Given the description of an element on the screen output the (x, y) to click on. 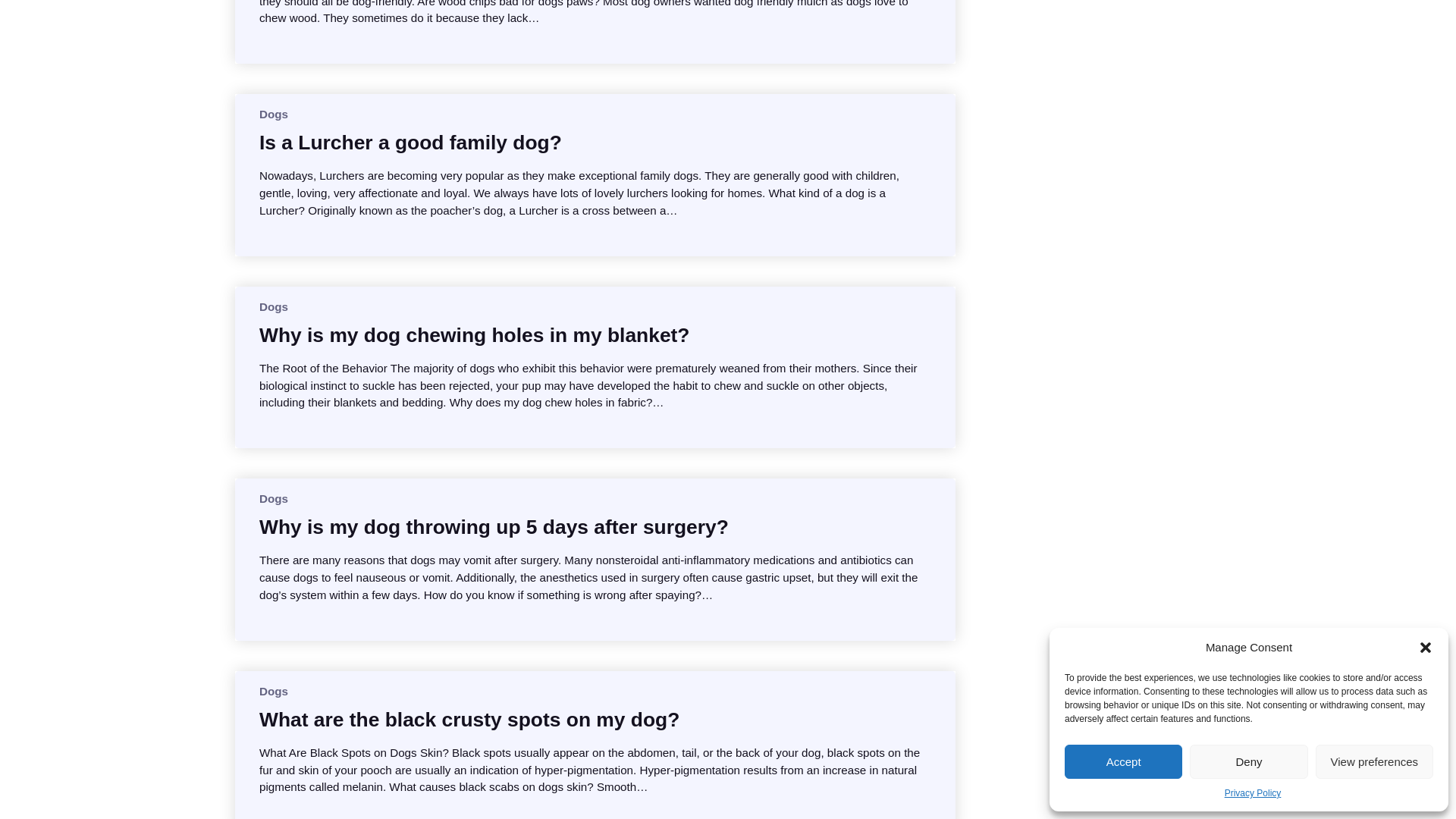
Why is my dog chewing holes in my blanket? (474, 335)
Dogs (273, 306)
Dogs (273, 113)
Dogs (273, 690)
Is a Lurcher a good family dog? (410, 142)
What are the black crusty spots on my dog? (469, 719)
Why is my dog throwing up 5 days after surgery? (494, 526)
Dogs (273, 498)
